Given the description of an element on the screen output the (x, y) to click on. 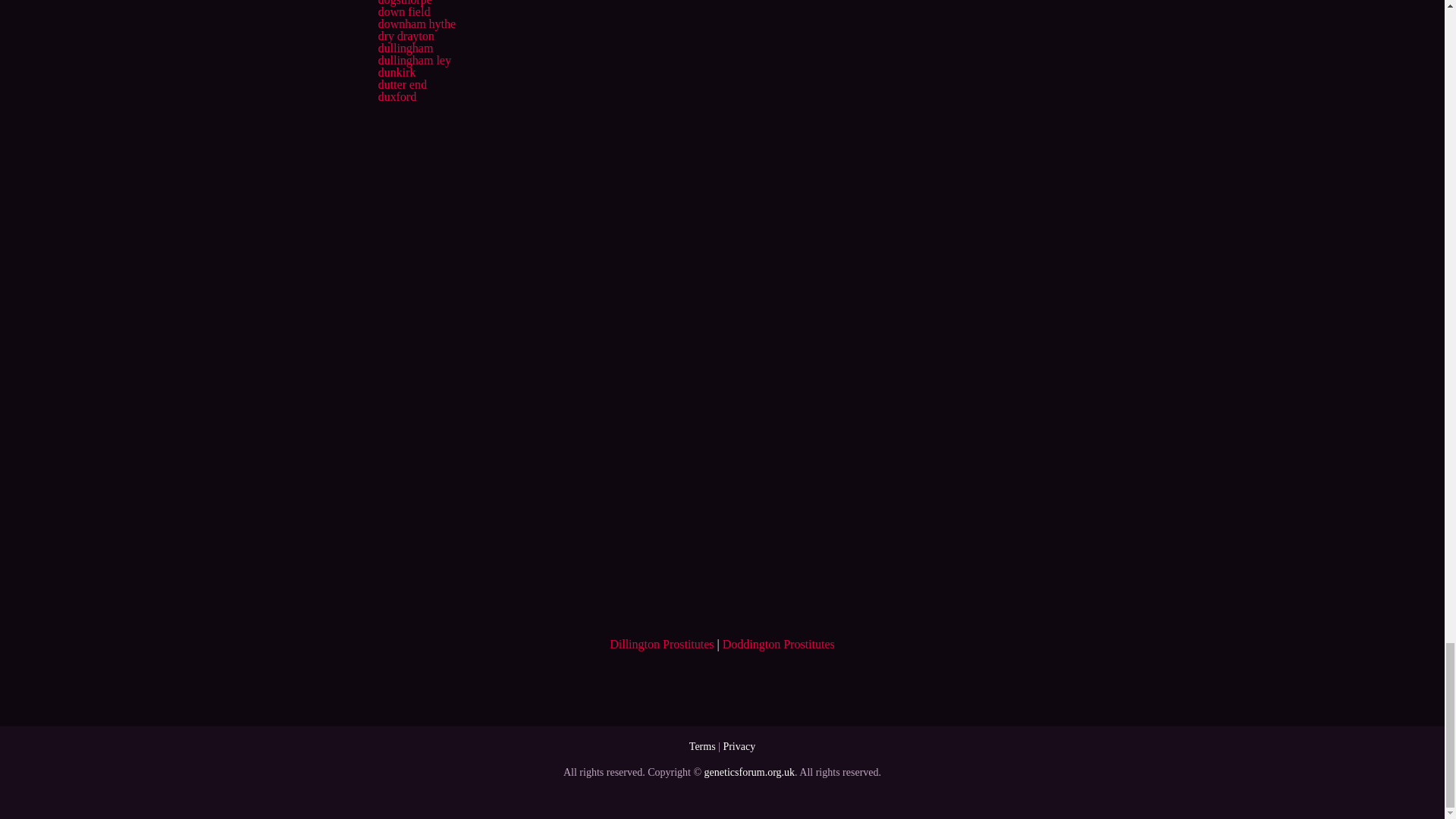
dullingham (404, 47)
downham hythe (416, 23)
dogsthorpe (403, 2)
Privacy (738, 746)
dunkirk (395, 72)
duxford (396, 96)
Terms (702, 746)
Doddington Prostitutes (778, 644)
Privacy (738, 746)
dry drayton (405, 35)
